Given the description of an element on the screen output the (x, y) to click on. 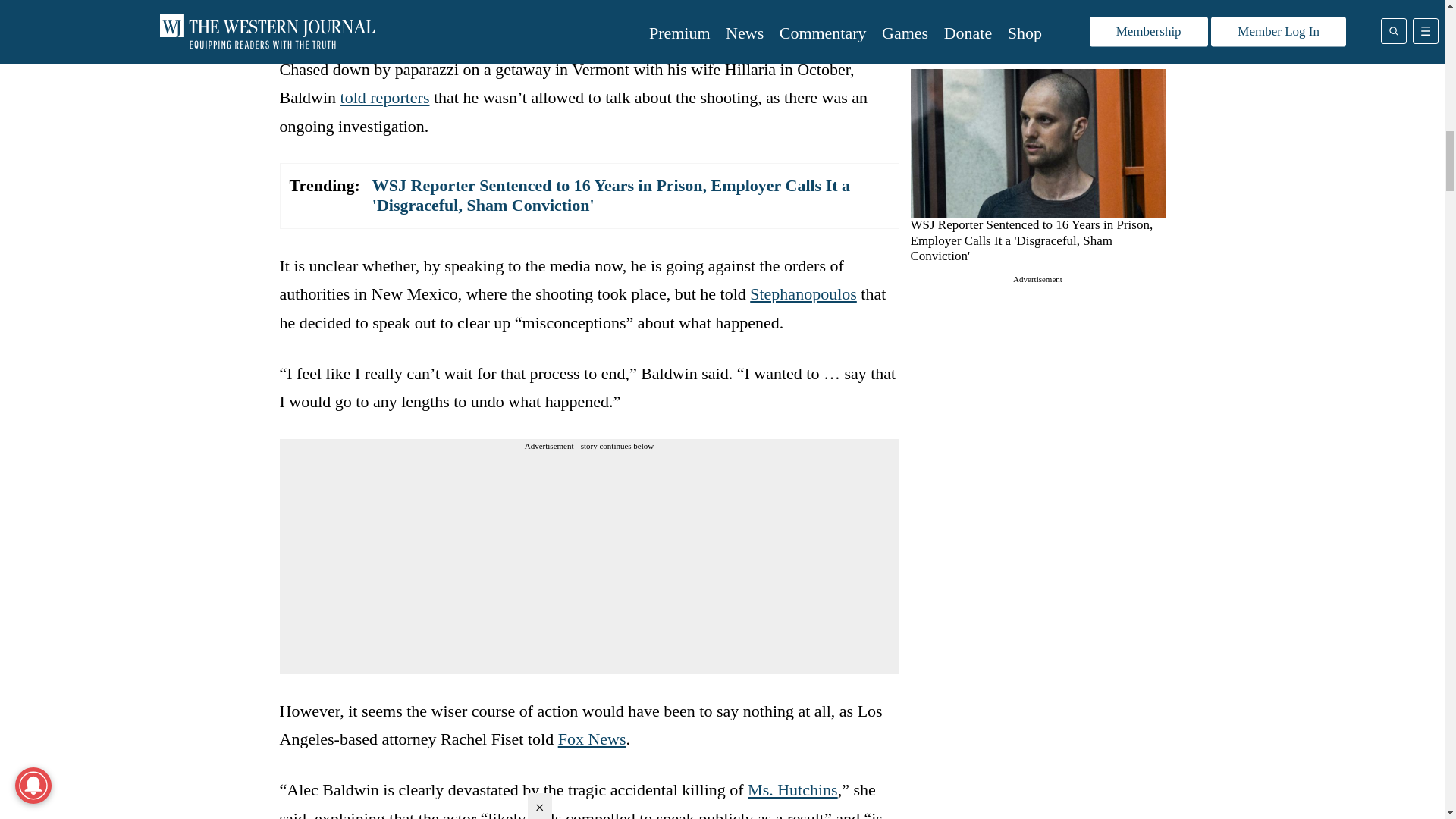
3rd party ad content (1037, 380)
